Given the description of an element on the screen output the (x, y) to click on. 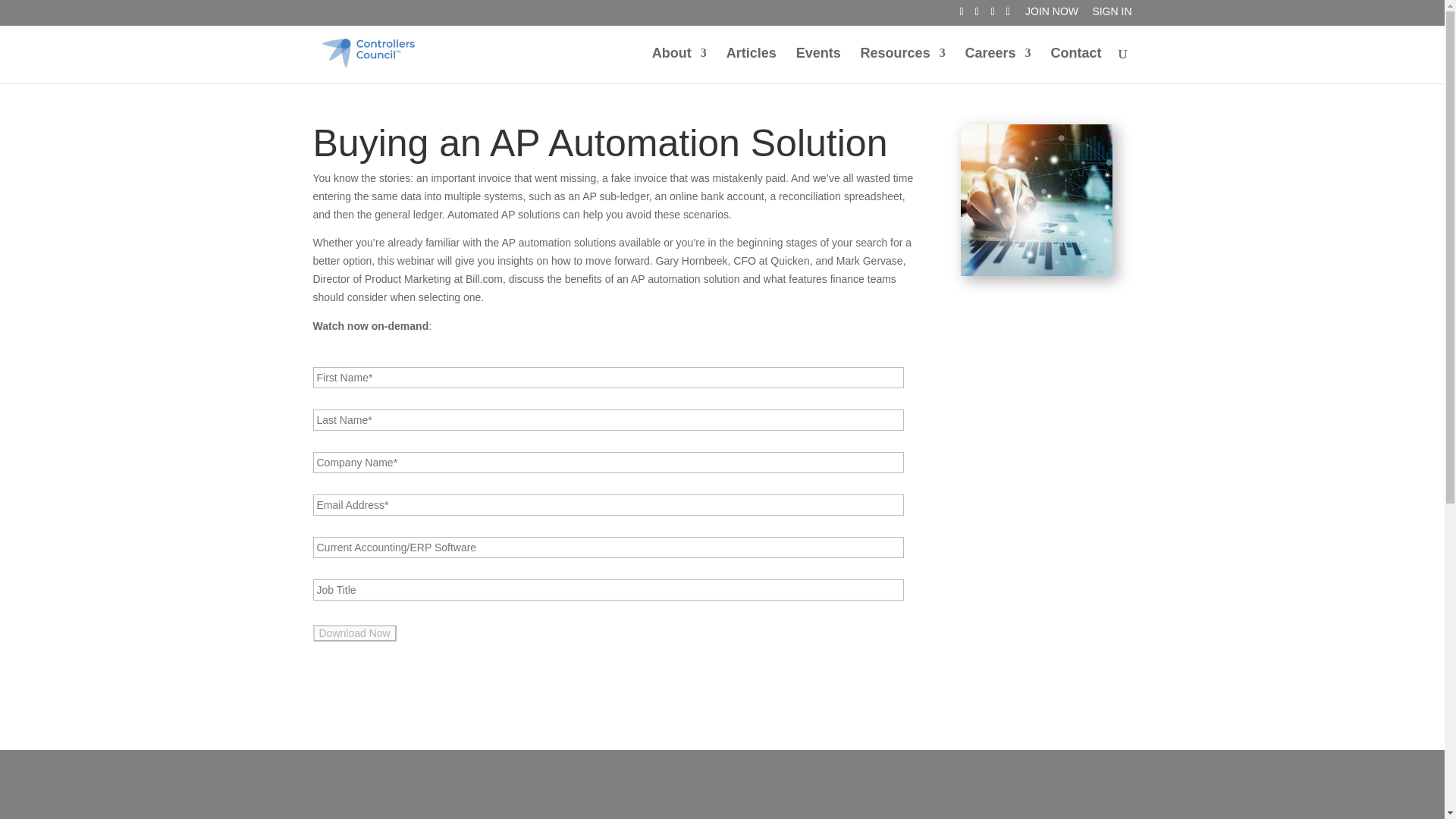
Resources (902, 65)
Contact (1076, 65)
About (679, 65)
Events (818, 65)
Download Now (354, 632)
Download Now (354, 632)
JOIN NOW (1051, 15)
Careers (997, 65)
SIGN IN (1111, 15)
Articles (751, 65)
